Given the description of an element on the screen output the (x, y) to click on. 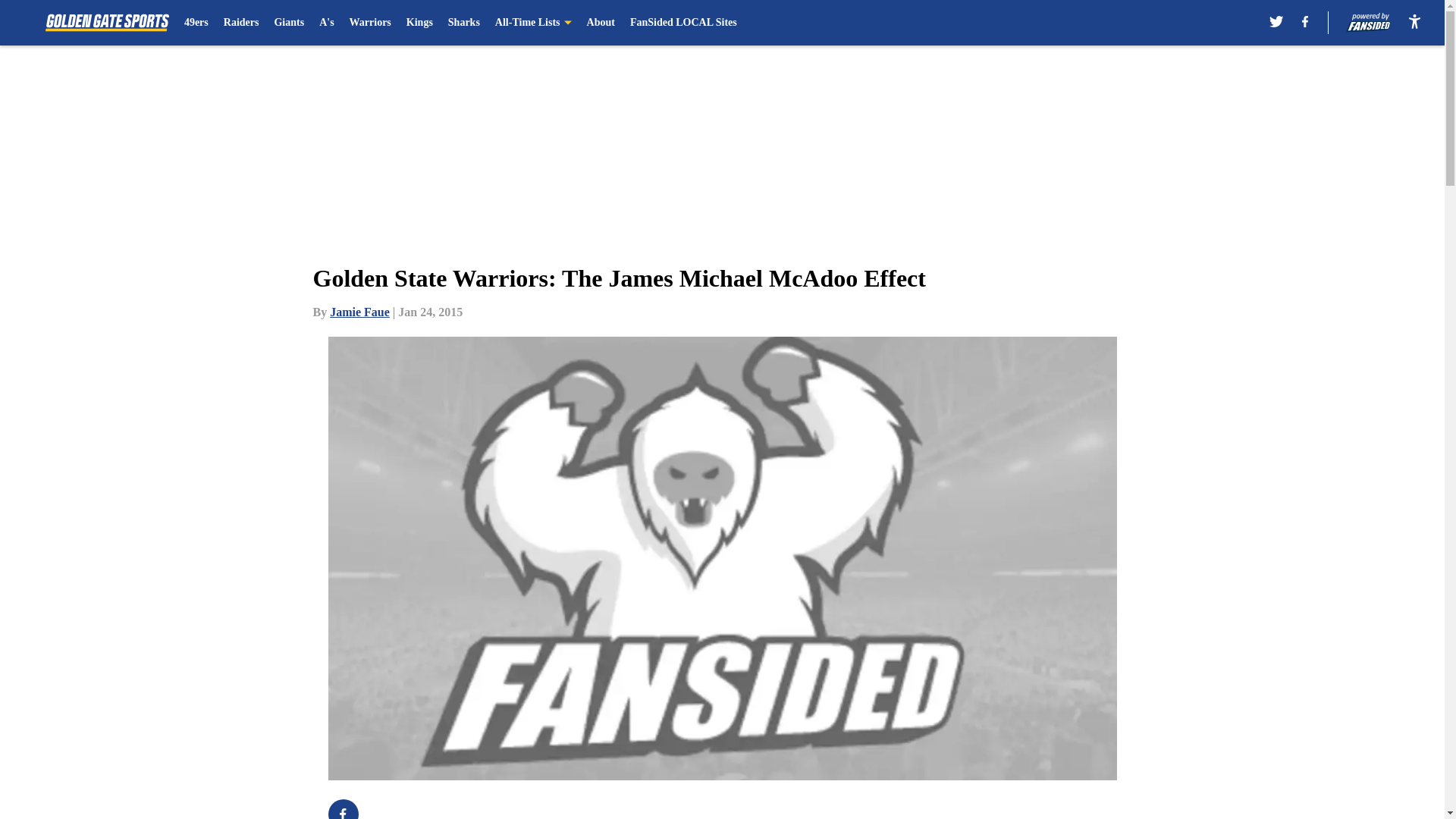
Raiders (241, 22)
Warriors (370, 22)
FanSided LOCAL Sites (683, 22)
About (600, 22)
Jamie Faue (360, 311)
Giants (288, 22)
49ers (196, 22)
Sharks (464, 22)
Kings (419, 22)
A's (325, 22)
